Given the description of an element on the screen output the (x, y) to click on. 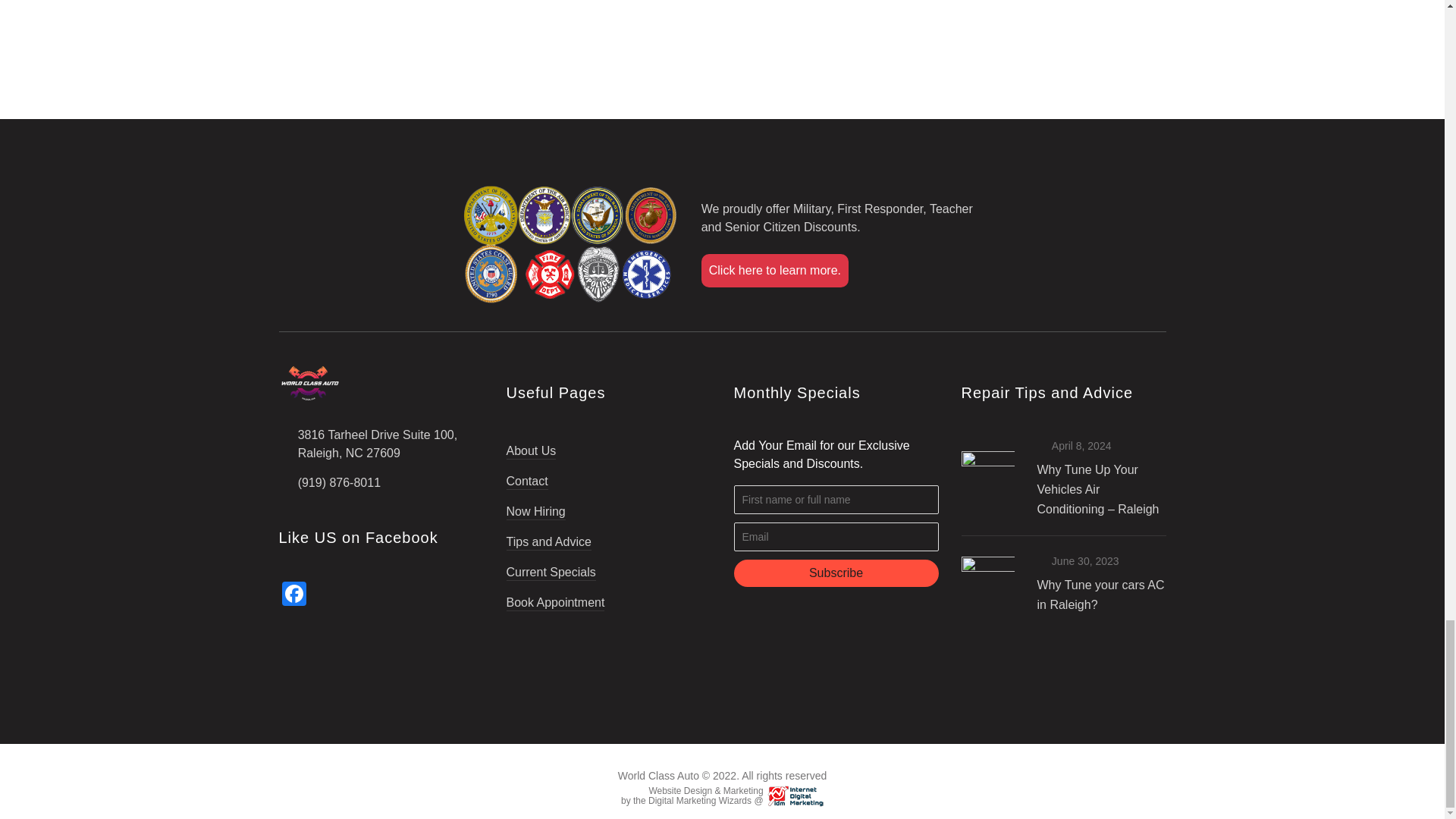
Click here to learn more. (774, 270)
Facebook (293, 595)
Current Specials (550, 565)
Now Hiring (536, 505)
Why Tune your cars AC in Raleigh? (1100, 594)
Tips and Advice (548, 535)
Book Appointment (555, 595)
About Us (531, 452)
Subscribe (836, 573)
Subscribe (836, 573)
Contact (527, 474)
Facebook (293, 595)
